Given the description of an element on the screen output the (x, y) to click on. 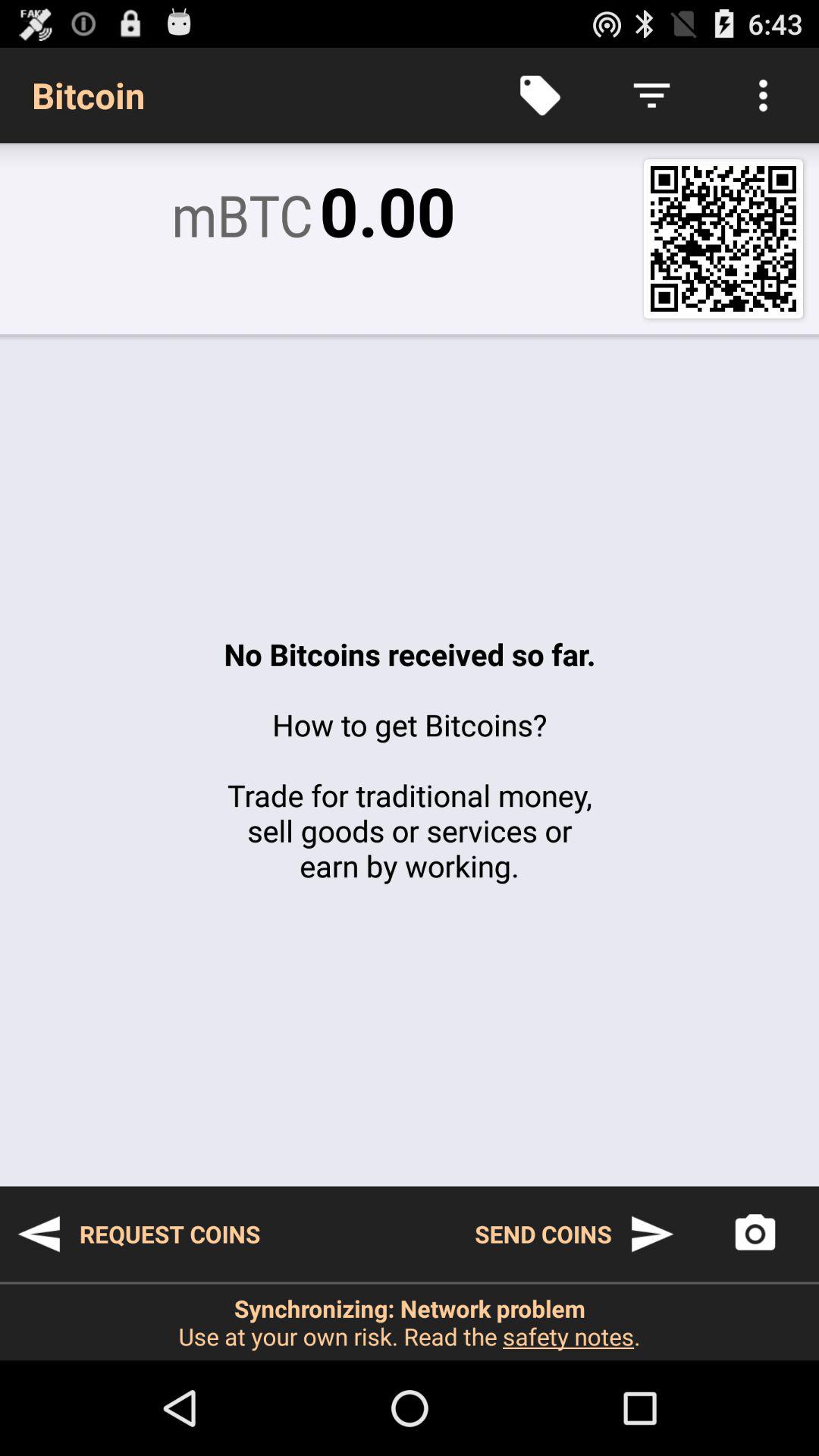
select the icon next to bitcoin icon (540, 95)
